Given the description of an element on the screen output the (x, y) to click on. 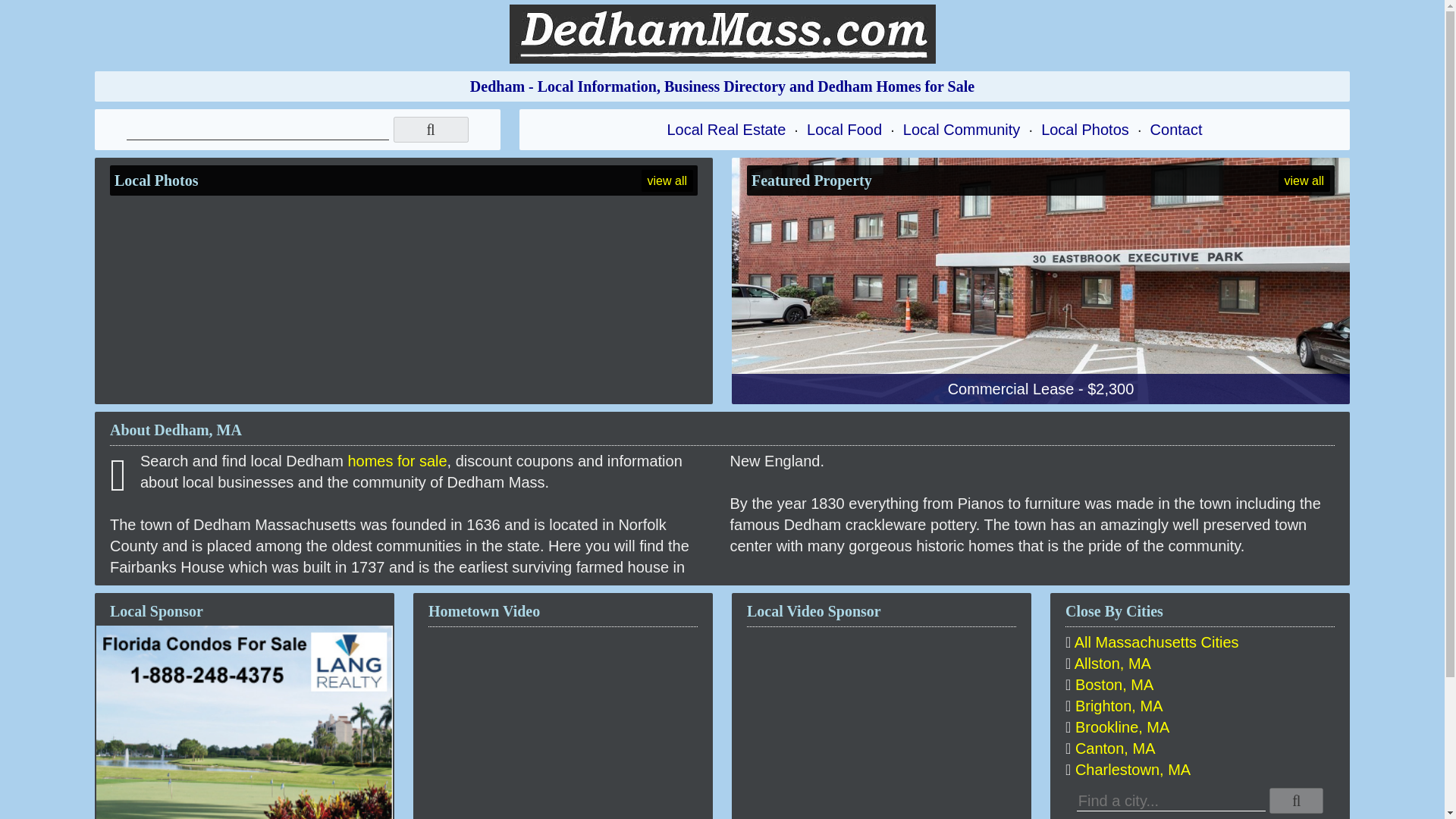
view all (1303, 180)
homes for sale (396, 460)
Allston, MA (1112, 663)
Brighton, MA (1119, 705)
Charlestown, MA (1133, 769)
Local Food (844, 129)
view all (667, 180)
Boston, MA (1114, 684)
All Massachusetts Cities (1156, 641)
Local Photos (1085, 129)
Local Community (961, 129)
Local Real Estate (726, 129)
Brookline, MA (1122, 727)
Contact (1176, 129)
Canton, MA (1115, 748)
